Given the description of an element on the screen output the (x, y) to click on. 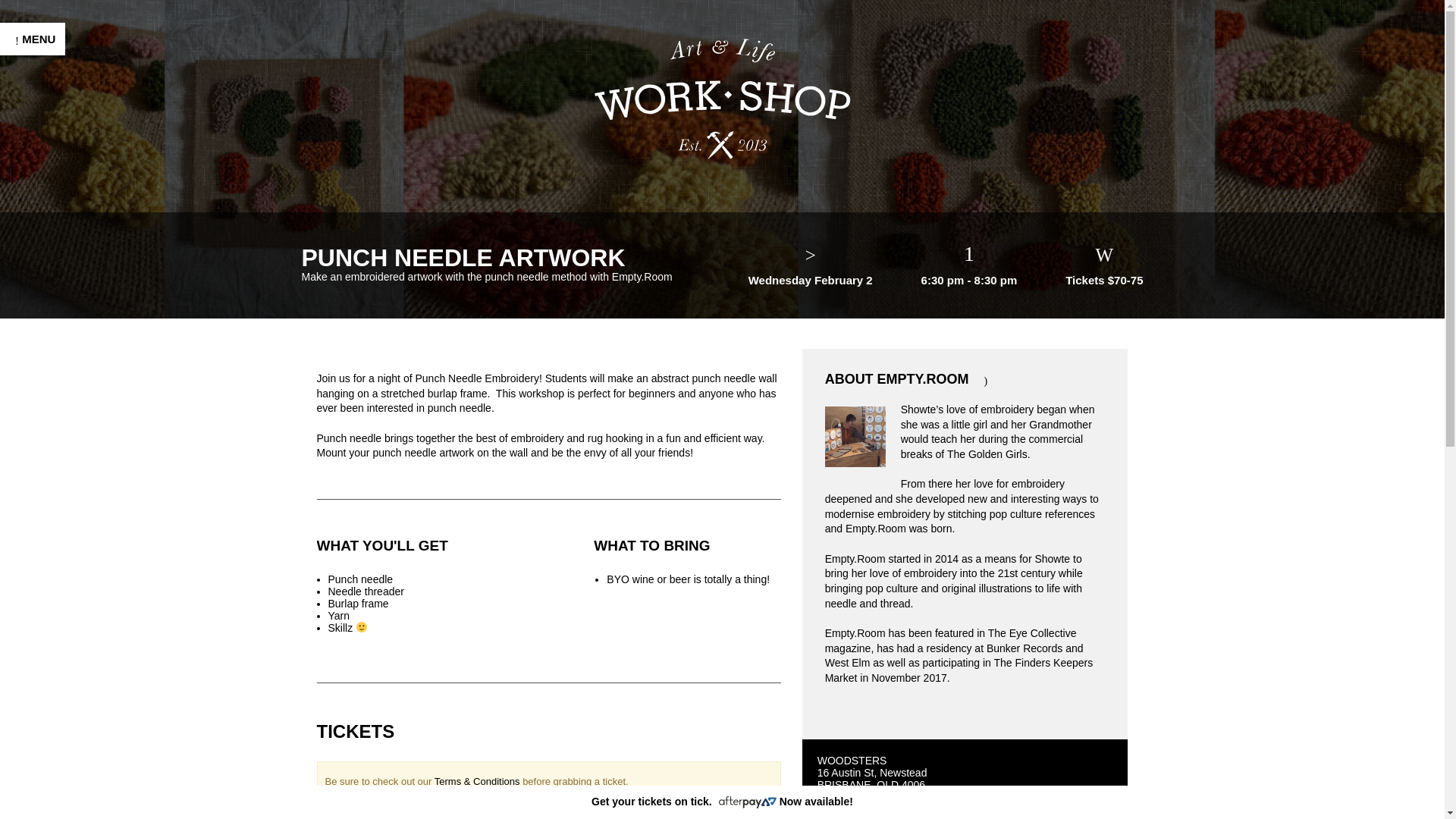
ACTIVATIONS (58, 331)
Scott Lyttle (116, 799)
GIFT VOUCHERS (71, 440)
MURALS (42, 362)
Work-Shop (722, 97)
PRESS (37, 502)
CONTACT (47, 595)
BLOG (33, 564)
HENS ACTIVITIES (72, 299)
VENUE HIRE MELBOURNE (57, 400)
TEACH (37, 471)
Zoom in (818, 816)
HOME (35, 206)
CLASSES (46, 237)
HOW WE ROLL (63, 533)
